Given the description of an element on the screen output the (x, y) to click on. 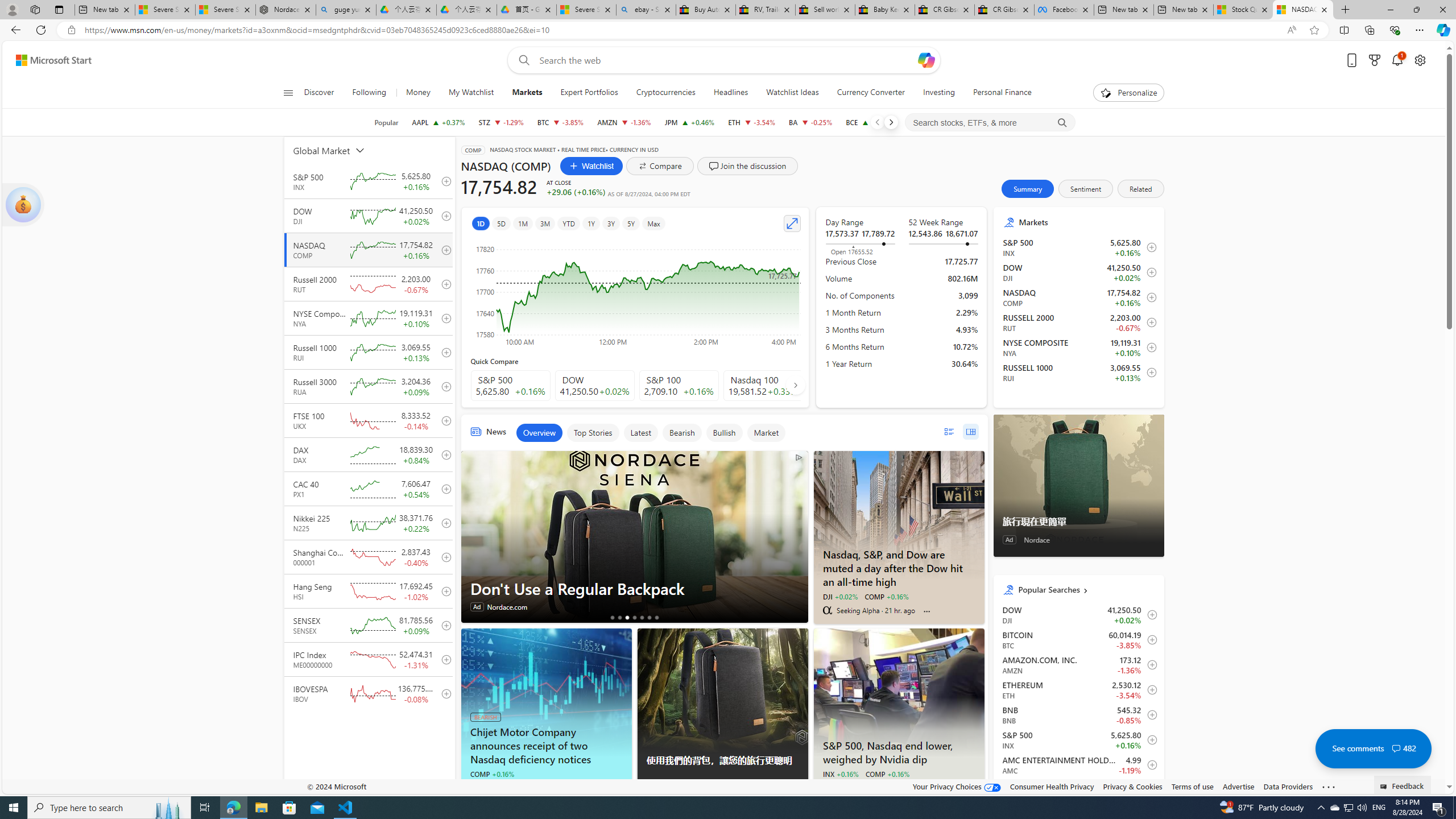
ETH Ethereum decrease 2,530.12 -89.57 -3.54% (751, 122)
add to your watchlist (442, 693)
Bullish (724, 432)
Popular (386, 121)
Sell worldwide with eBay (825, 9)
Markets (526, 92)
Discover (319, 92)
ebay - Search (646, 9)
DJI +0.02% (839, 596)
INX +0.16% (840, 773)
